Given the description of an element on the screen output the (x, y) to click on. 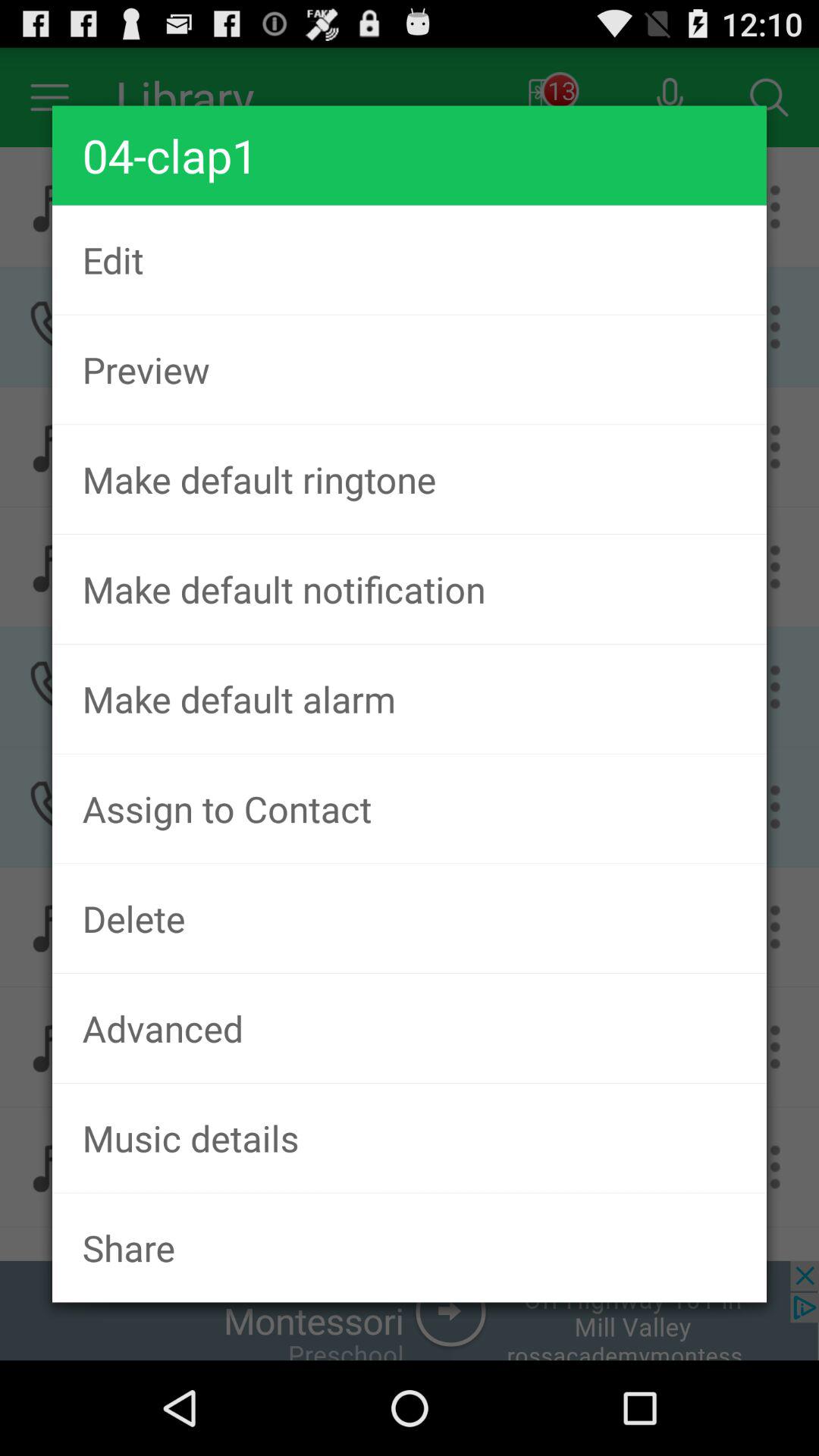
turn off the item below delete app (409, 1027)
